Given the description of an element on the screen output the (x, y) to click on. 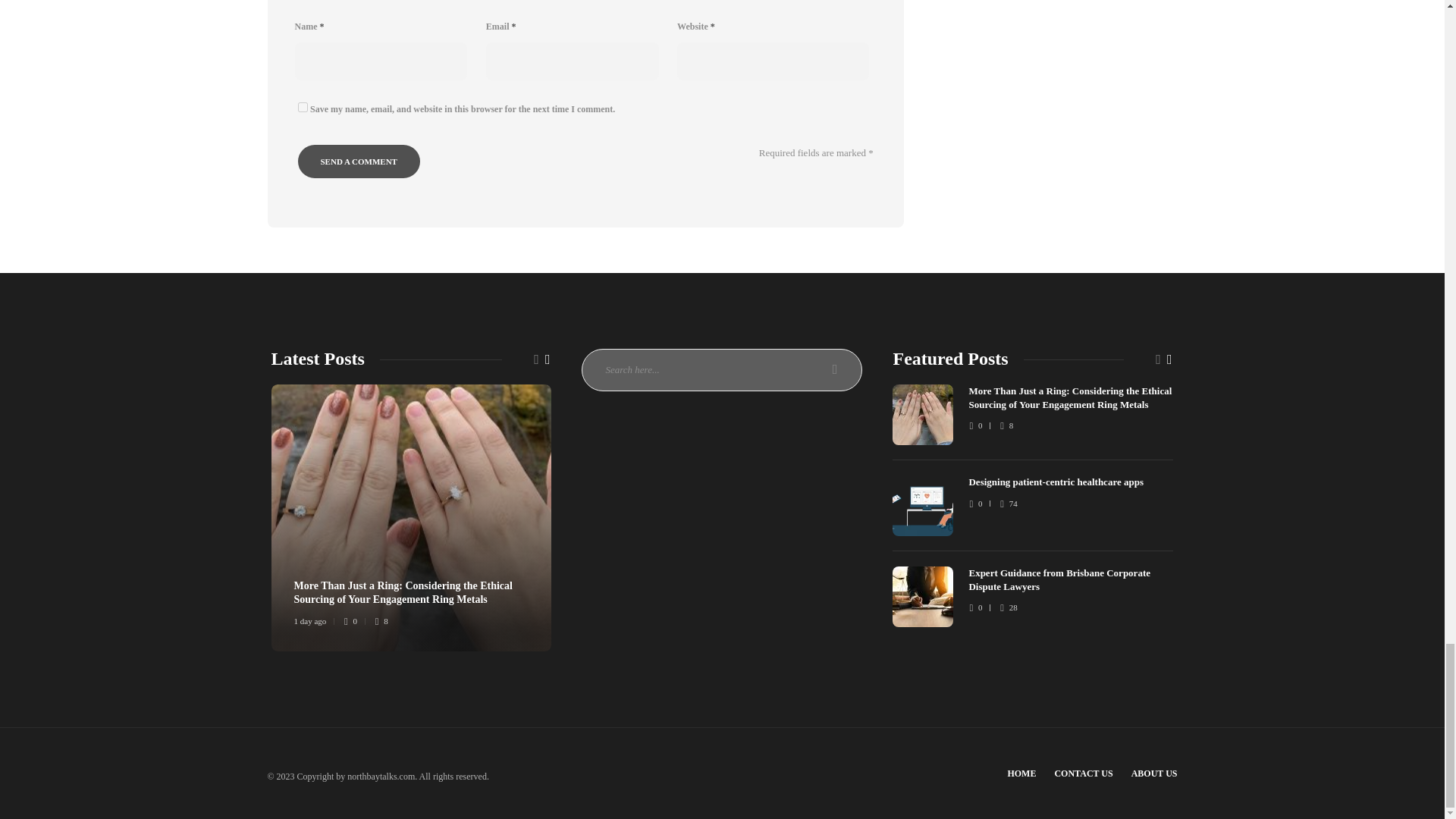
Search text (720, 369)
yes (302, 107)
Send a comment (358, 161)
